Given the description of an element on the screen output the (x, y) to click on. 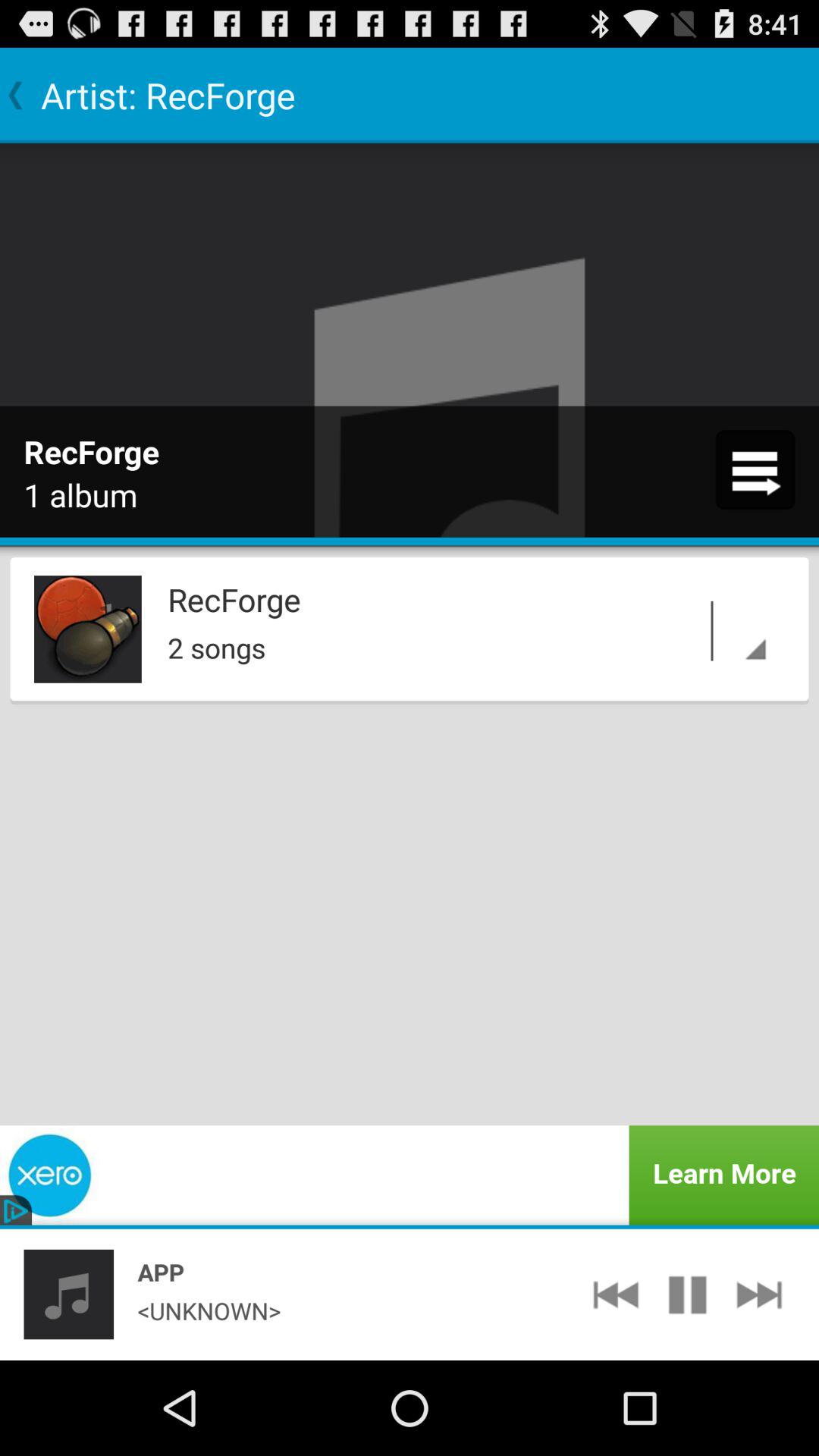
press item to the left of recforge app (87, 629)
